Given the description of an element on the screen output the (x, y) to click on. 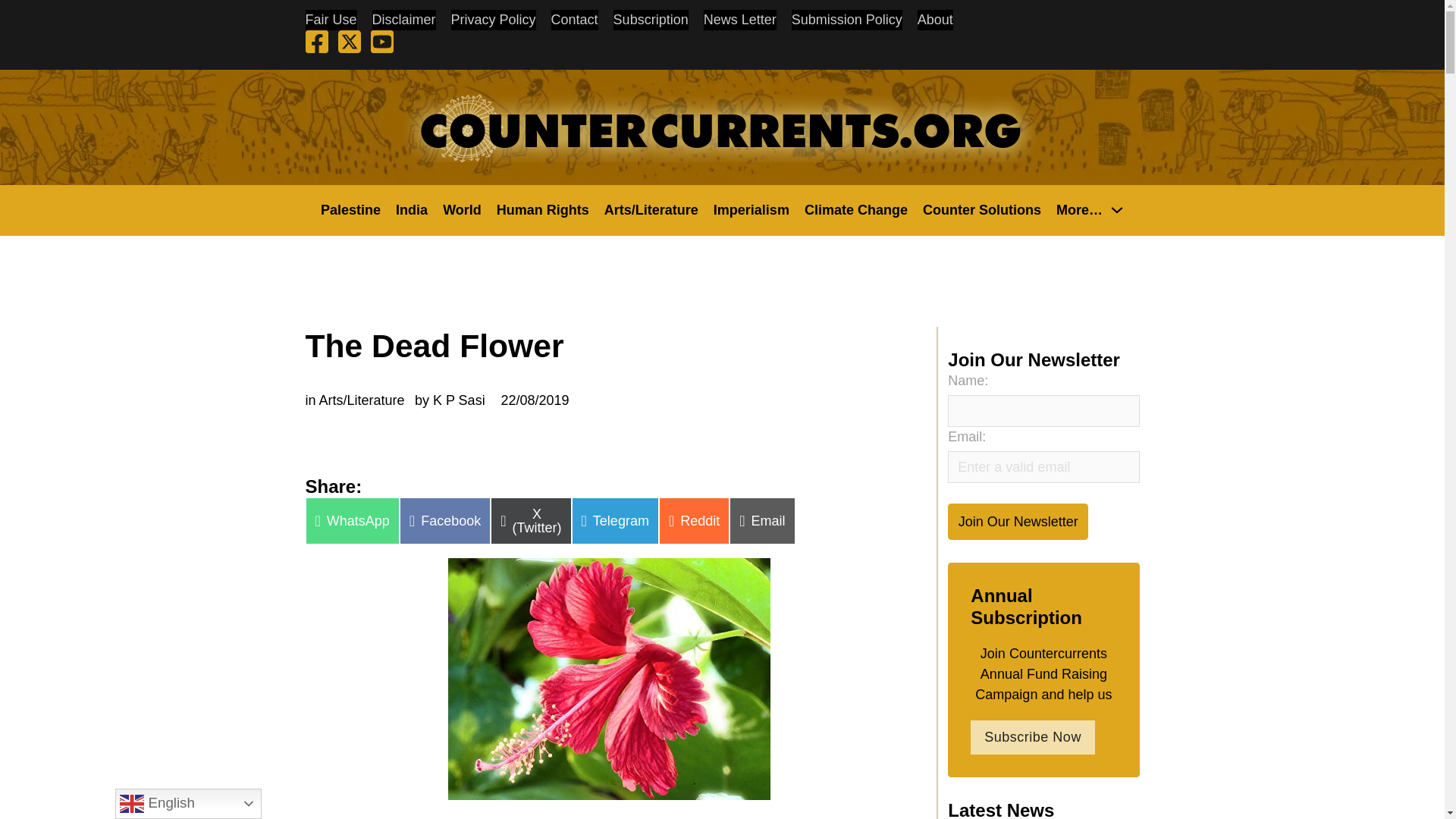
Climate Change (856, 209)
Subscription (650, 19)
Fair Use (330, 19)
Submission Policy (847, 19)
India (412, 209)
Disclaimer (403, 19)
Contact (574, 19)
Join Our Newsletter (1017, 520)
World (461, 209)
The Dead Flower 2 (609, 678)
